Given the description of an element on the screen output the (x, y) to click on. 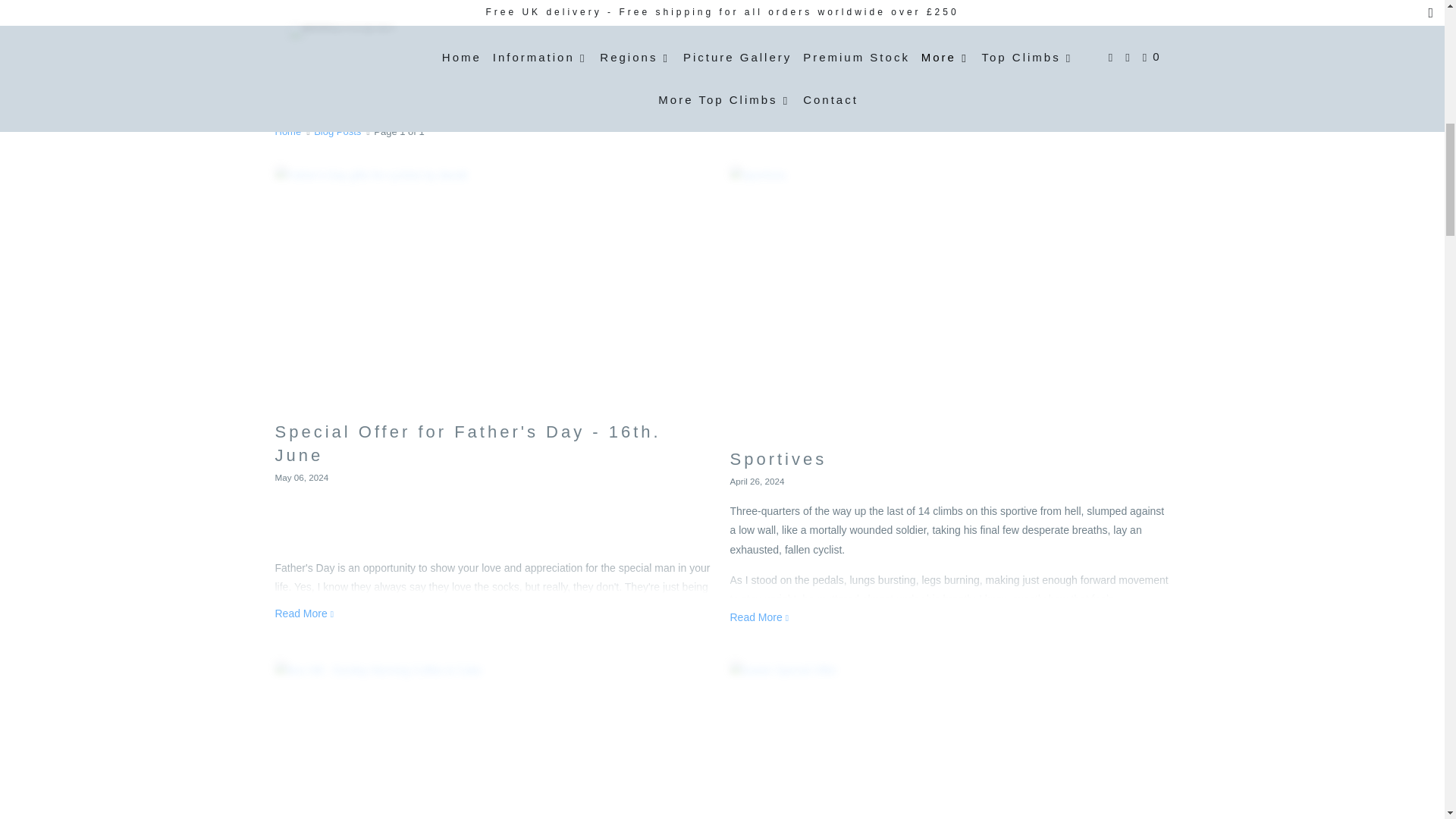
davidtphotography.com (288, 131)
Blog Posts (337, 131)
Sportives (949, 303)
Easter Special Offer (949, 739)
Blog Posts (722, 72)
Special Offer for Father's Day - 16th. June (494, 289)
Sportives (759, 616)
Special Offer for Father's Day - 16th. June (304, 613)
